Given the description of an element on the screen output the (x, y) to click on. 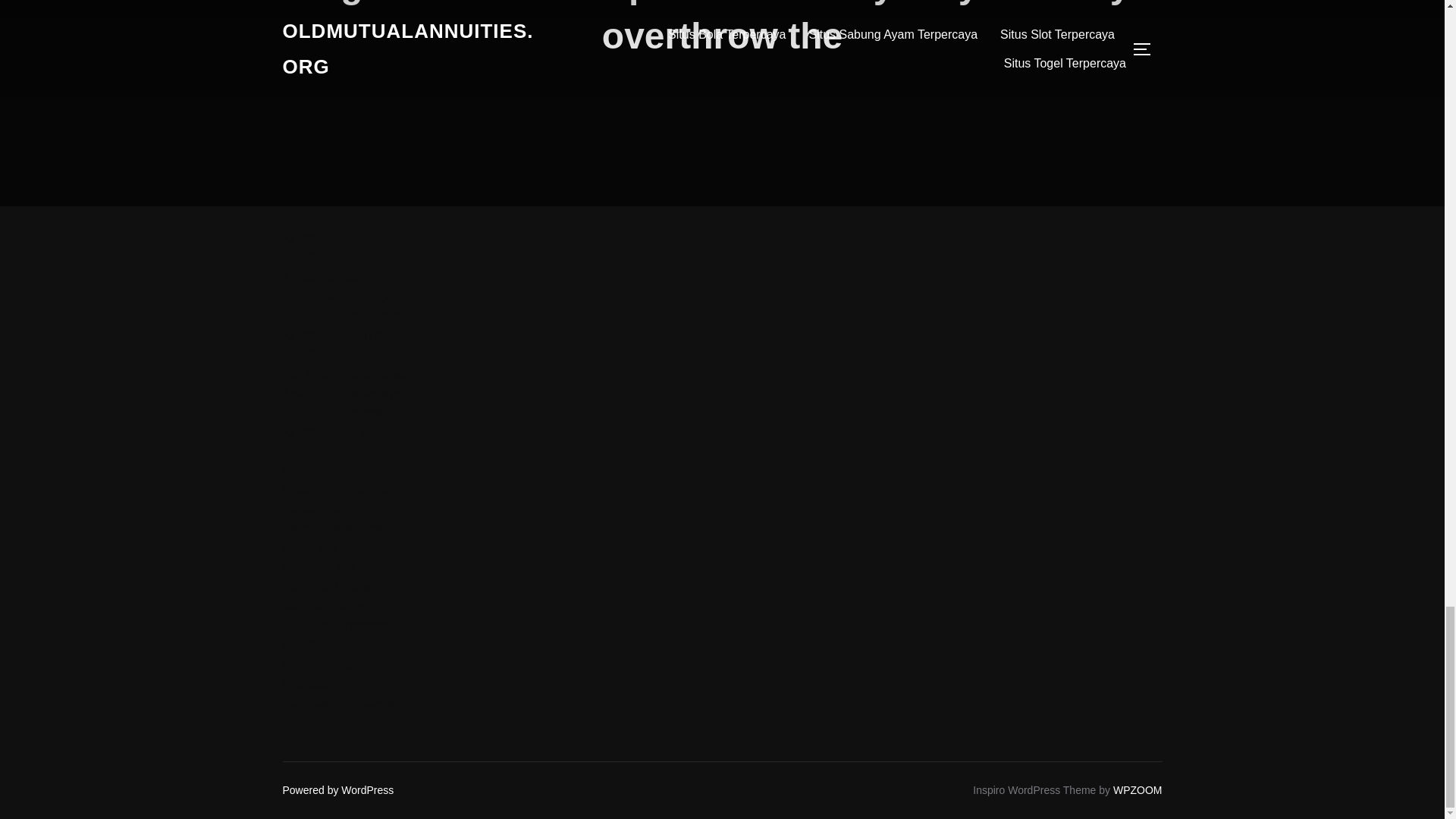
King88Bet Slot (322, 277)
King88Bet Alternatif (335, 256)
King88Bet Slot Login (338, 296)
King88Bet Login Alternatif (352, 335)
King88Bet Link Alternatif (347, 354)
King88Bet Slot Alternatif (347, 315)
King88Bet (309, 237)
